Given the description of an element on the screen output the (x, y) to click on. 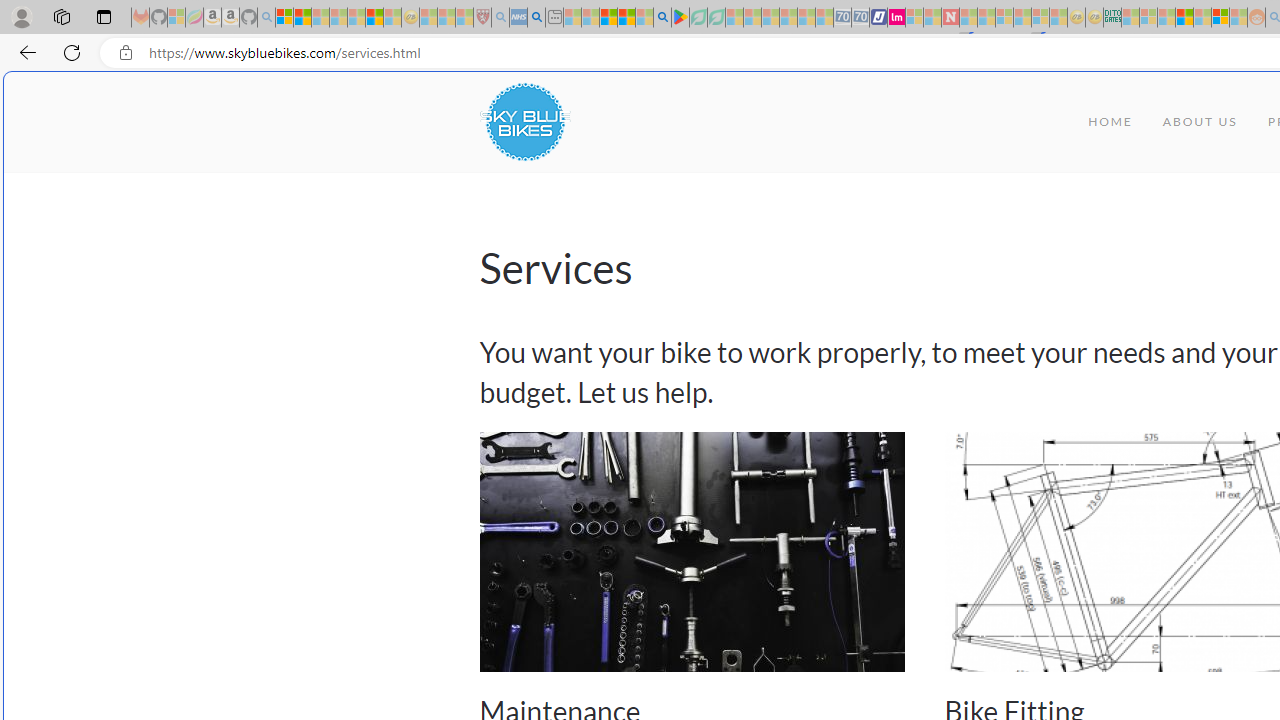
HOME (1110, 122)
